Given the description of an element on the screen output the (x, y) to click on. 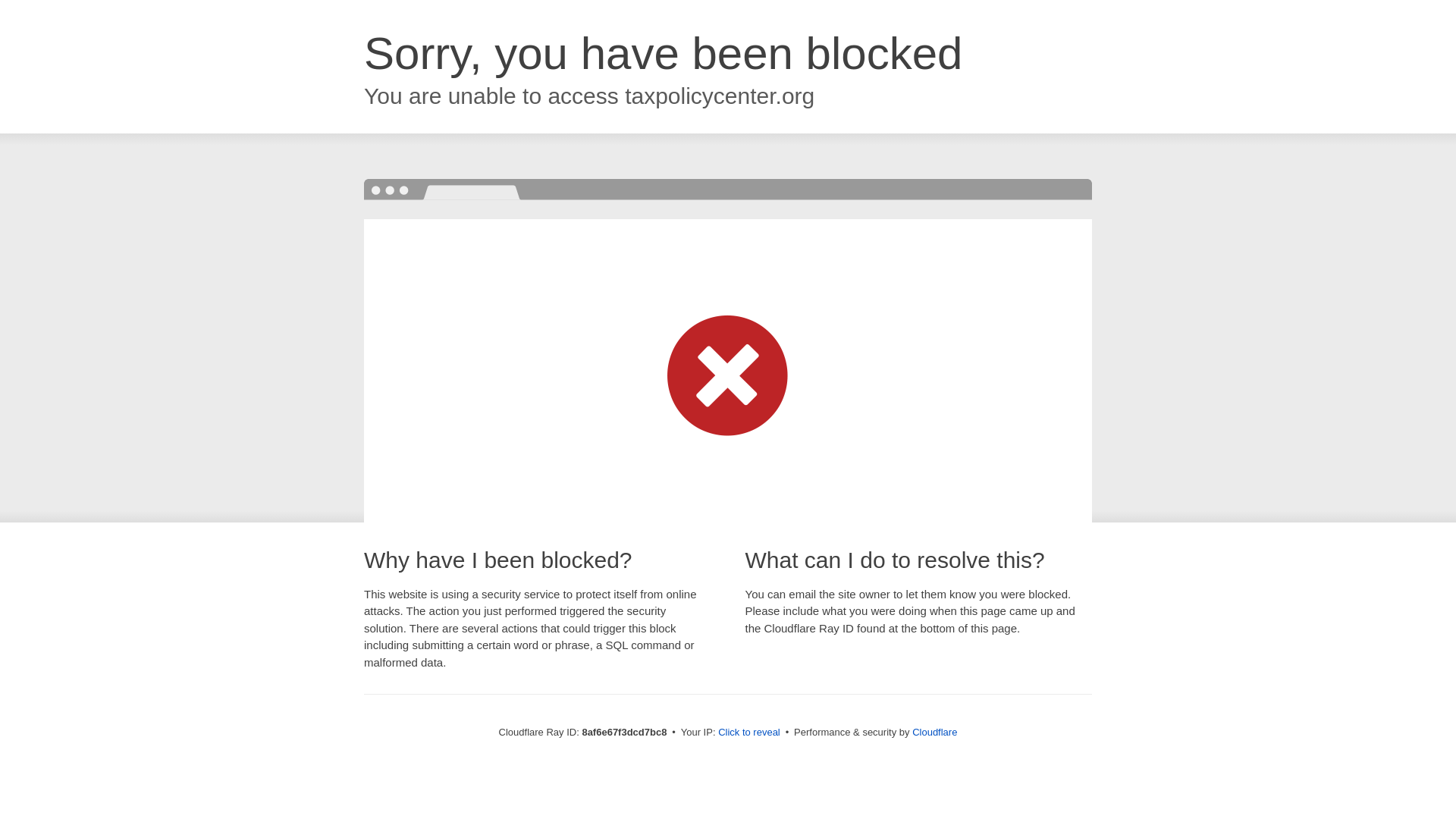
Cloudflare (934, 731)
Click to reveal (748, 732)
